Given the description of an element on the screen output the (x, y) to click on. 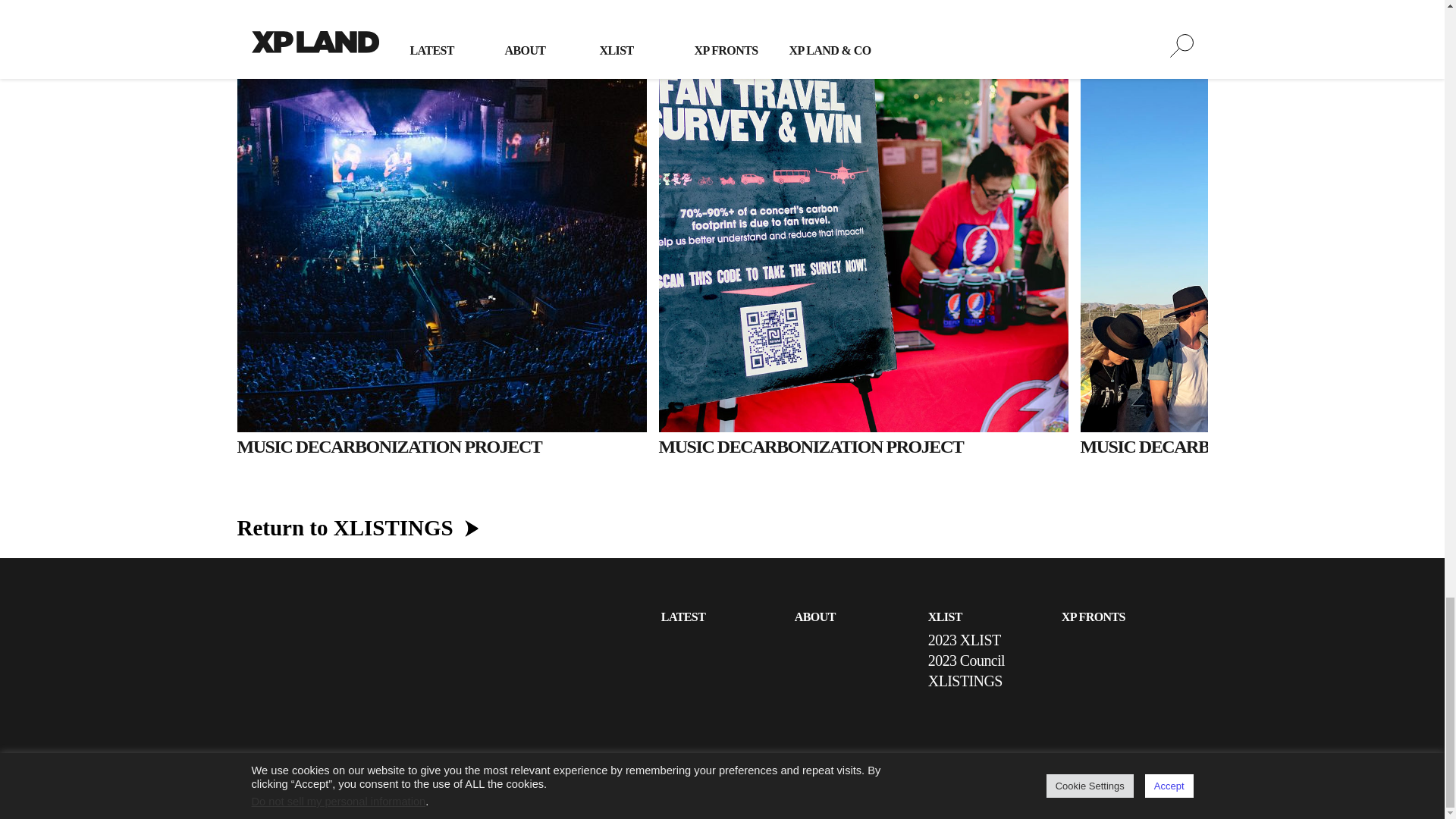
XP FRONTS (1093, 616)
Linked In (1112, 786)
2023 Council (966, 660)
Facebook (1179, 786)
XLISTINGS (965, 680)
Instagram (1146, 786)
ABOUT (814, 616)
XLIST (945, 616)
2023 XLIST (964, 639)
Go to the XP Land home page (315, 674)
LATEST (682, 616)
Return to XLISTINGS (343, 527)
